Given the description of an element on the screen output the (x, y) to click on. 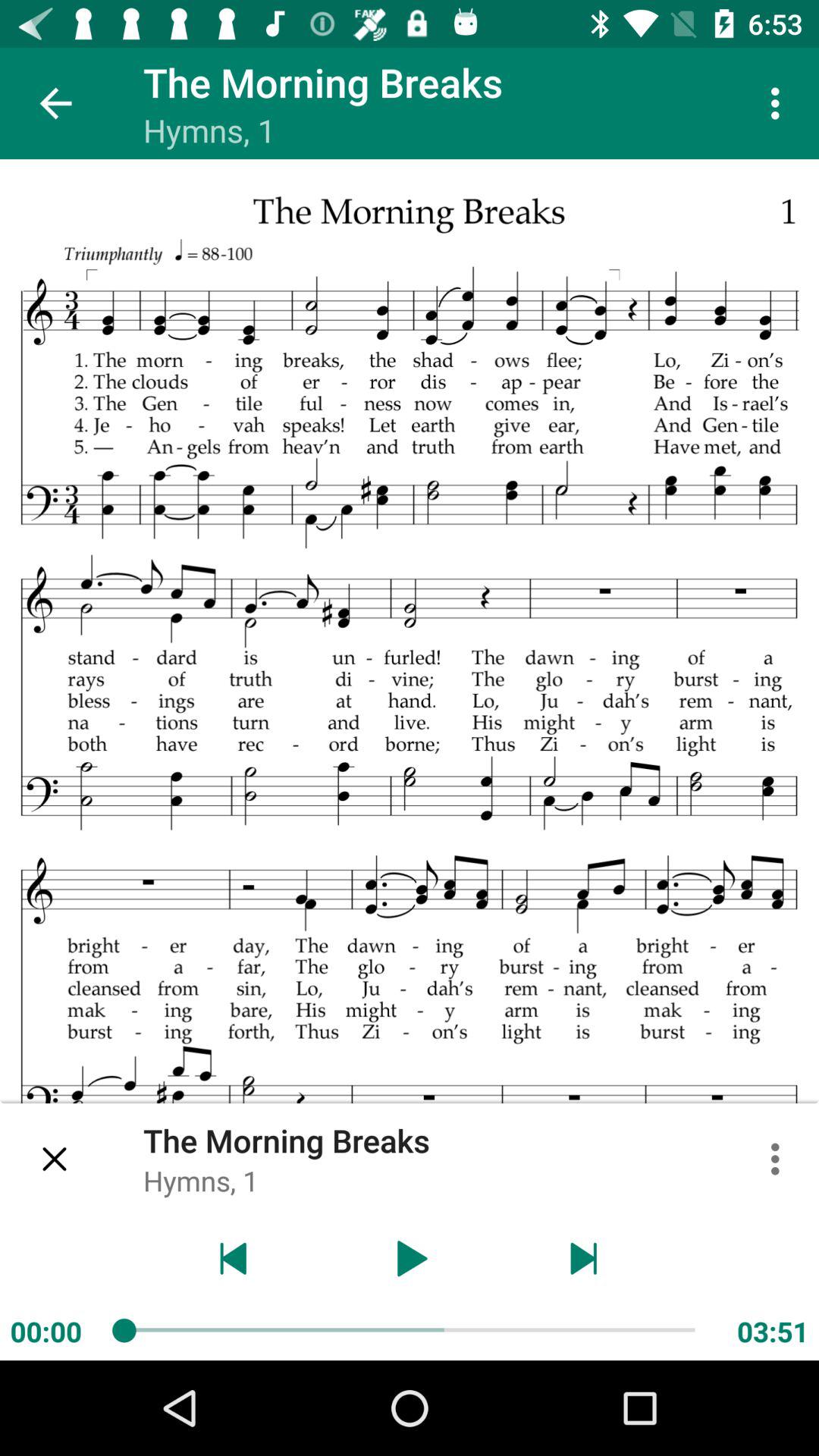
launch item above 00:00 (55, 1158)
